Given the description of an element on the screen output the (x, y) to click on. 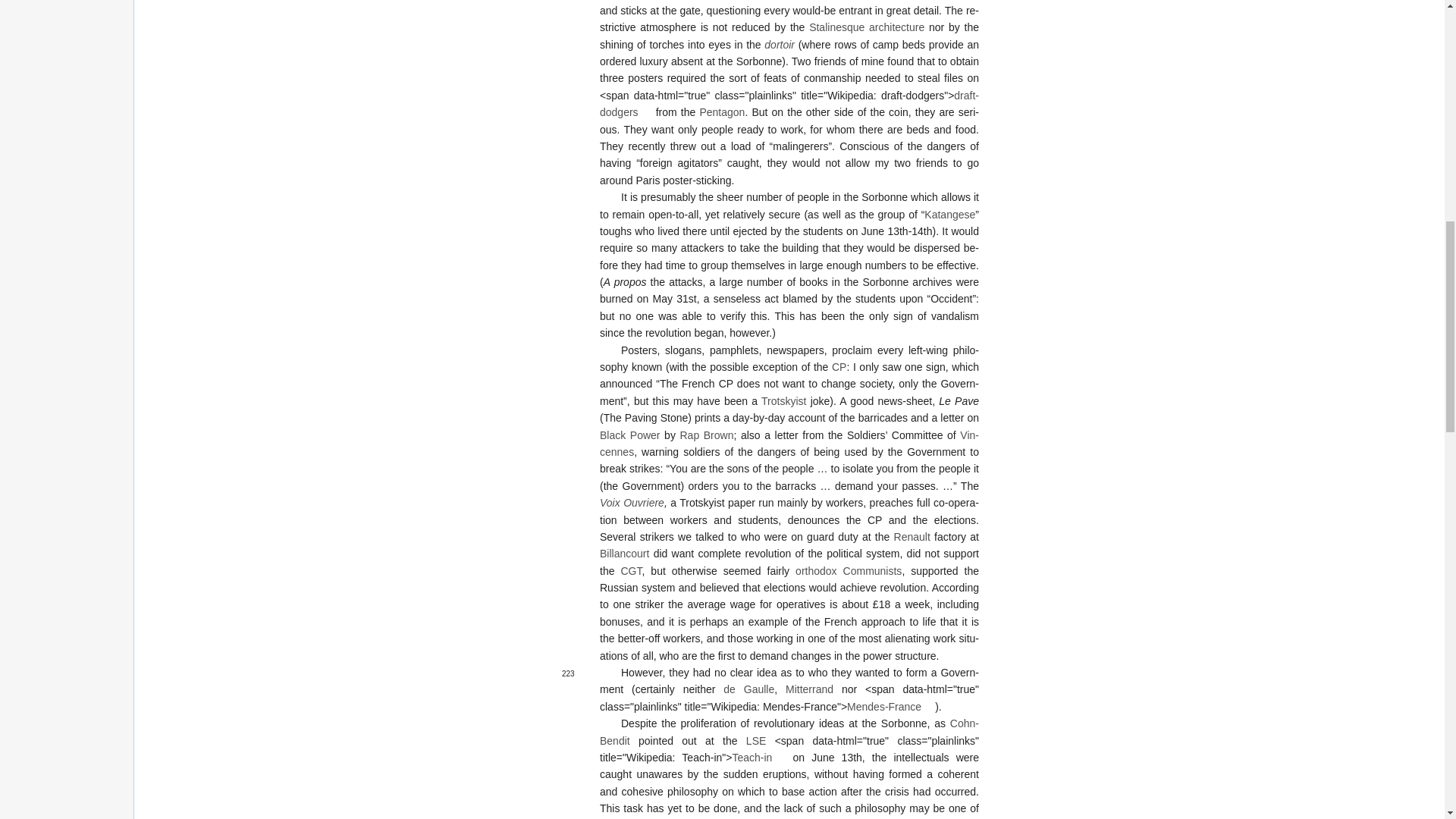
Rap Brown (706, 435)
dortoir (779, 44)
Cohn-Bendit (788, 731)
LSE (755, 740)
CP (838, 367)
Teach-in (759, 757)
Renault (911, 536)
Wikipedia: dortoir (779, 44)
de Gaulle (748, 689)
Black Power (630, 435)
Voix Ouvriere (631, 502)
CGT (631, 571)
draft-dodgers (788, 103)
Mendes-France (890, 706)
